Given the description of an element on the screen output the (x, y) to click on. 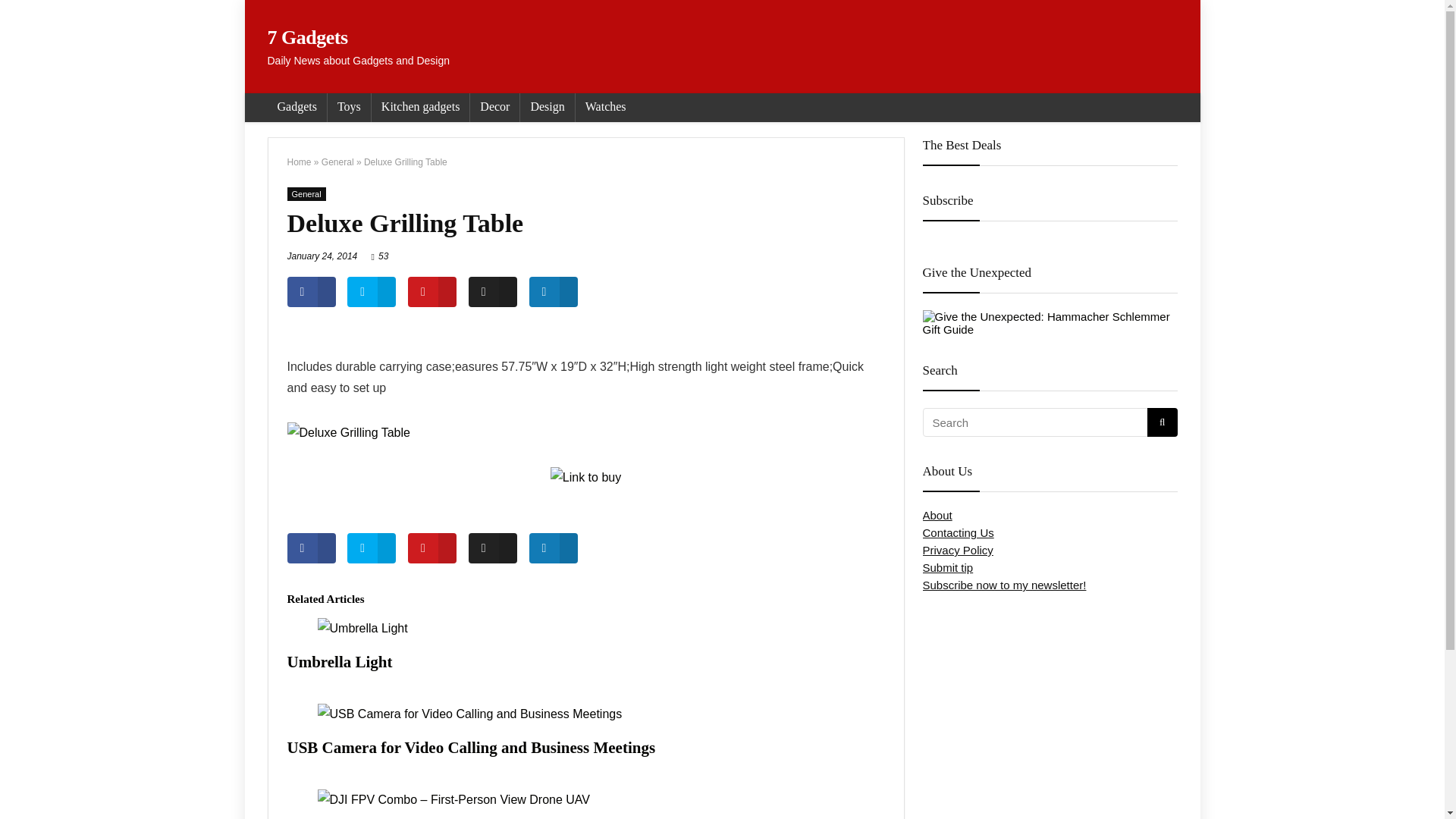
Home (298, 162)
General (337, 162)
General (305, 193)
Design (546, 107)
Kitchen gadgets (420, 107)
Contacting Us (956, 532)
Privacy Policy (956, 549)
USB Camera for Video Calling and Business Meetings (470, 747)
Watches (605, 107)
Toys (349, 107)
